Given the description of an element on the screen output the (x, y) to click on. 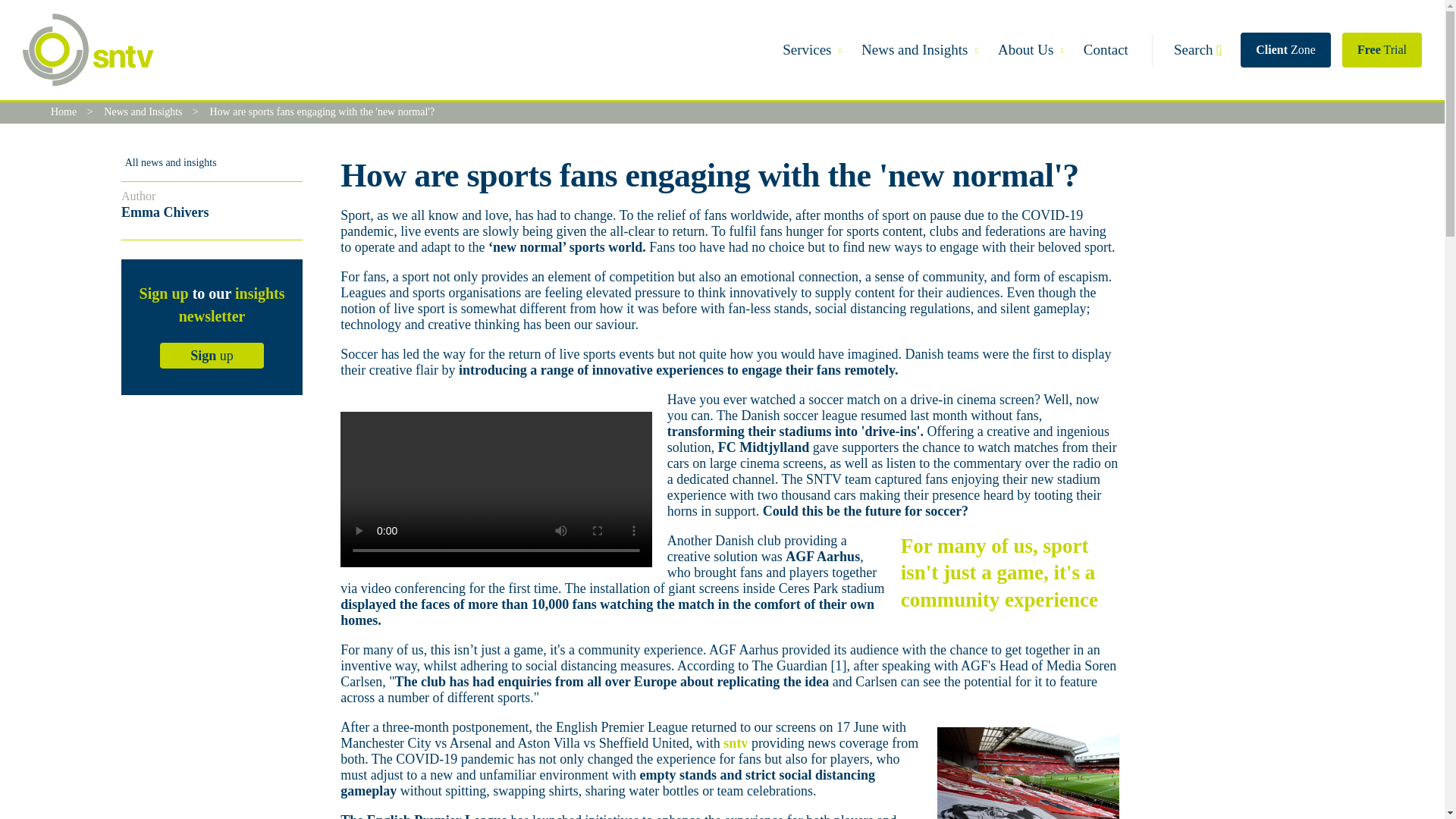
All news and insights (168, 162)
Home (75, 111)
Client Zone (1285, 49)
How are sports fans engaging with the 'new normal'? (321, 111)
SNTV - Inside every story (88, 49)
About Us (1023, 49)
News and Insights (912, 49)
News and Insights (154, 111)
Services (804, 49)
Search (1197, 50)
